Given the description of an element on the screen output the (x, y) to click on. 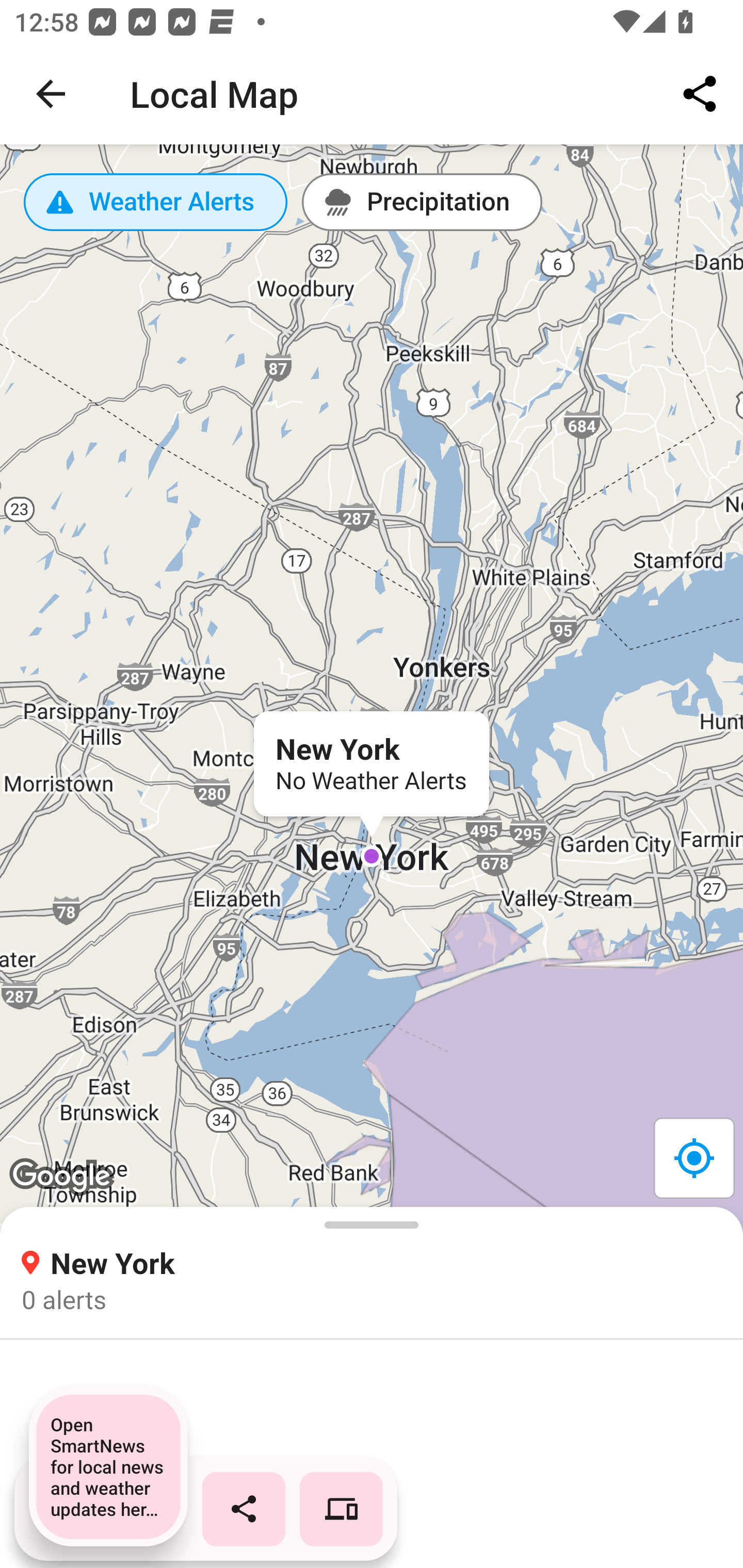
Navigate up (50, 93)
Share (699, 93)
Weather Alerts (155, 202)
Precipitation (421, 202)
My location button (693, 1157)
